Given the description of an element on the screen output the (x, y) to click on. 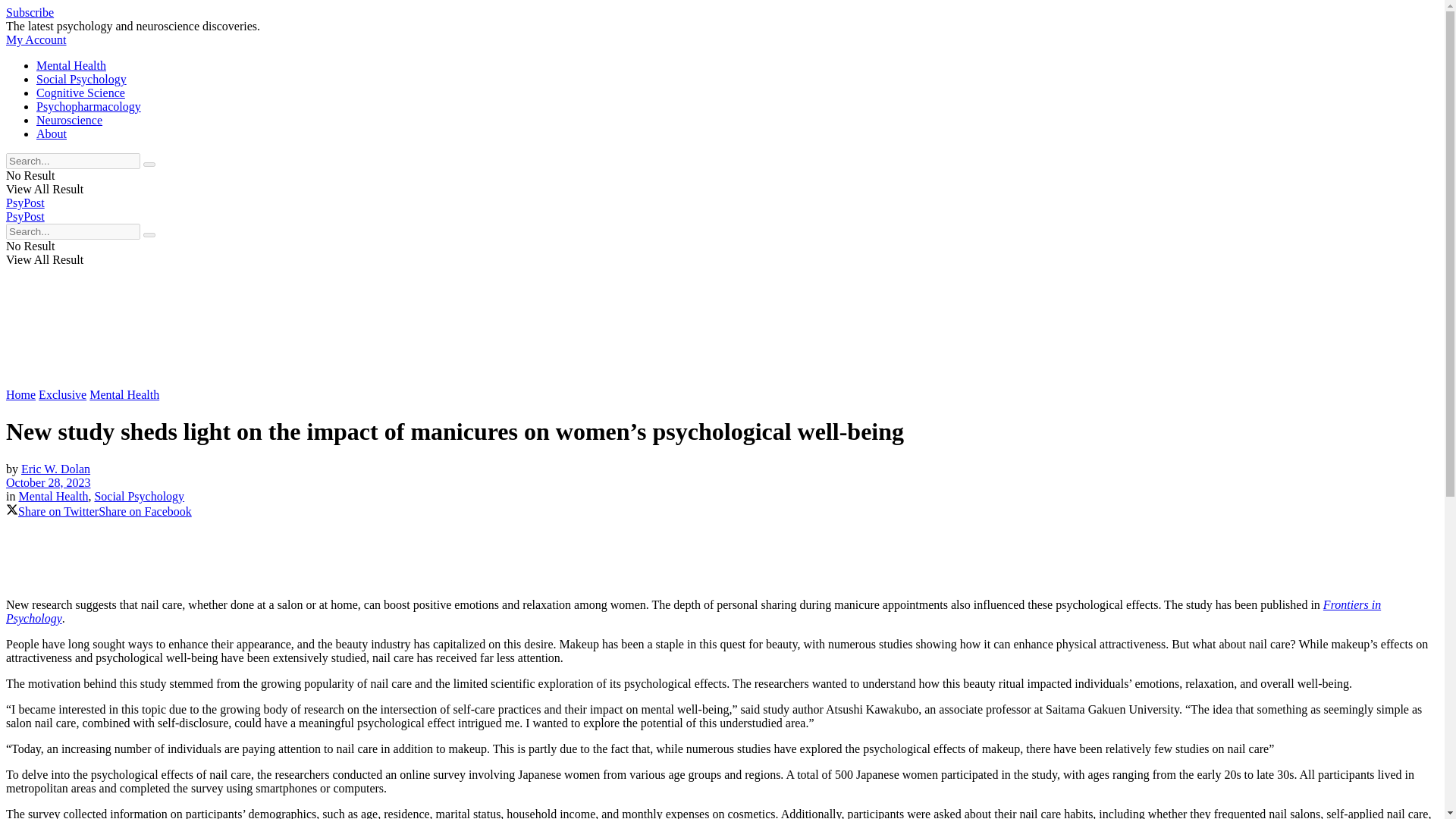
Eric W. Dolan (55, 468)
Subscribe (29, 11)
Neuroscience (68, 119)
Social Psychology (81, 78)
Exclusive (62, 394)
Mental Health (52, 495)
Share on Twitter (52, 511)
About (51, 133)
Home (19, 394)
Frontiers in Psychology (692, 611)
October 28, 2023 (47, 481)
Cognitive Science (80, 92)
Mental Health (71, 65)
My Account (35, 39)
Share on Facebook (145, 511)
